Given the description of an element on the screen output the (x, y) to click on. 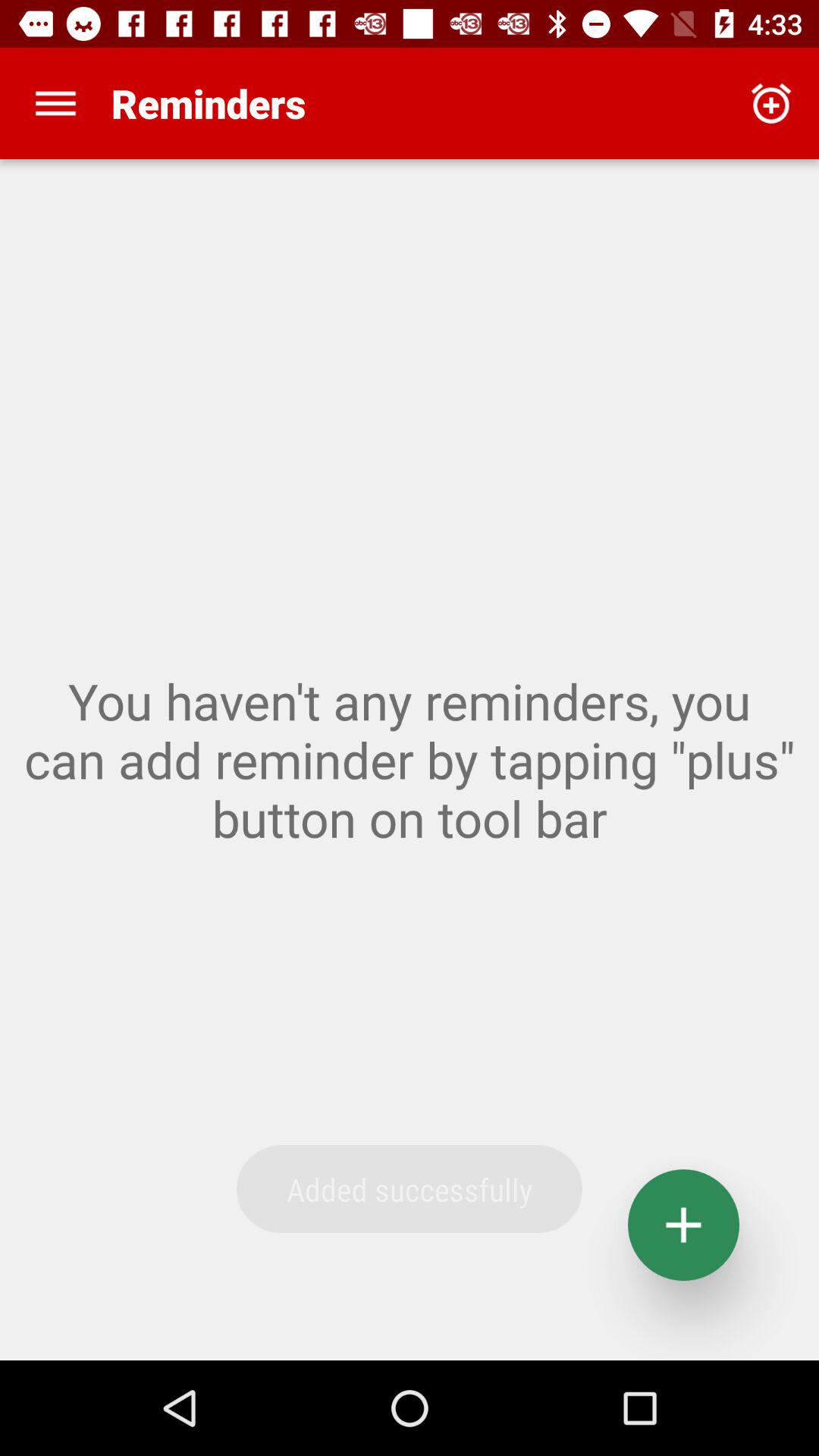
choose item next to the reminders icon (55, 103)
